Given the description of an element on the screen output the (x, y) to click on. 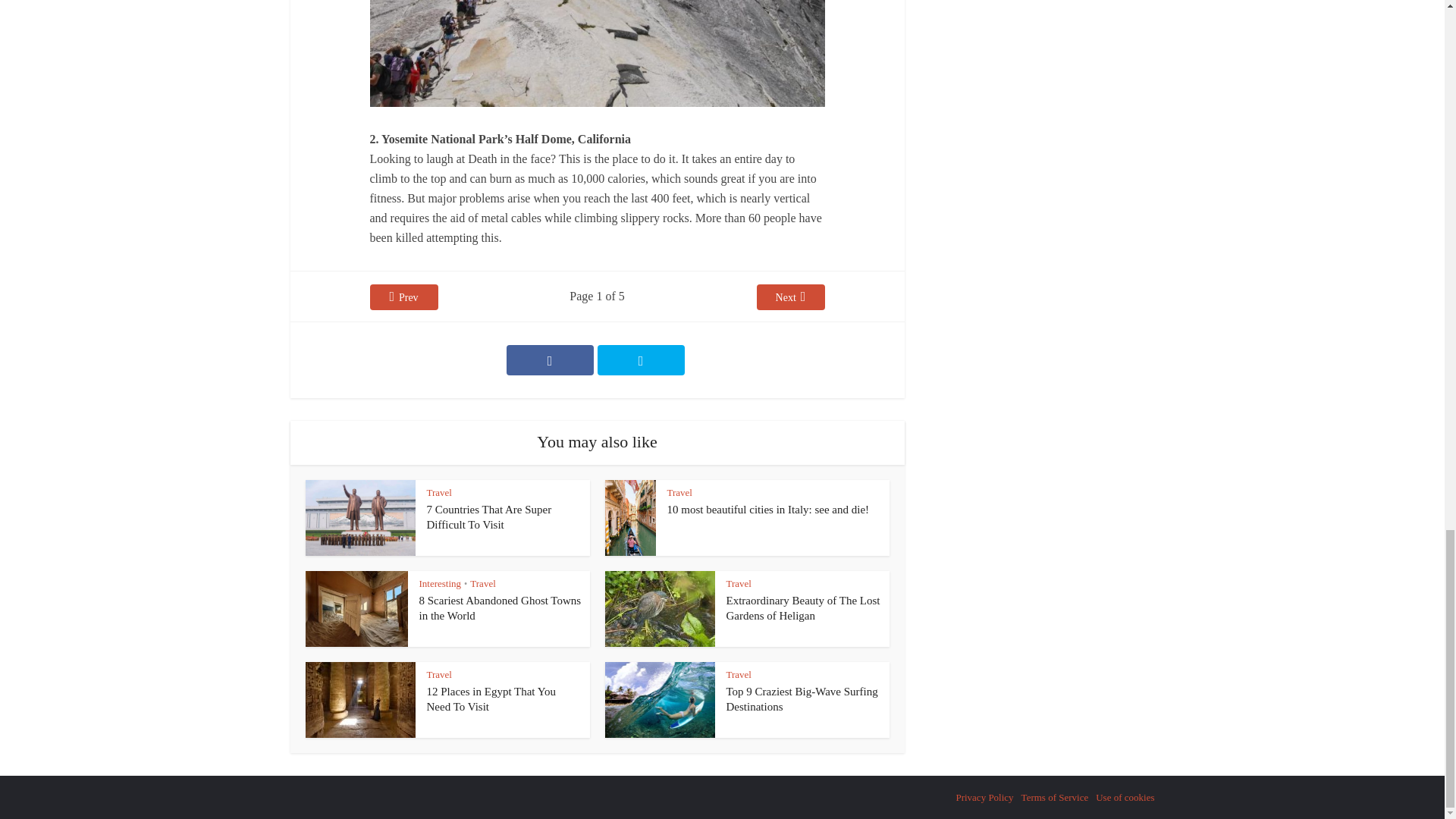
10 most beautiful cities in Italy: see and die! (767, 509)
Top 9 Craziest Big-Wave Surfing Destinations (801, 698)
7 Countries That Are Super Difficult To Visit (488, 516)
Top 9 Craziest Big-Wave Surfing Destinations (801, 698)
Travel (438, 491)
Travel (679, 491)
12 Places in Egypt That You Need To Visit (491, 698)
10 most beautiful cities in Italy: see and die! (767, 509)
12 Places in Egypt That You Need To Visit (491, 698)
Extraordinary Beauty of The Lost Gardens of Heligan (803, 607)
